Given the description of an element on the screen output the (x, y) to click on. 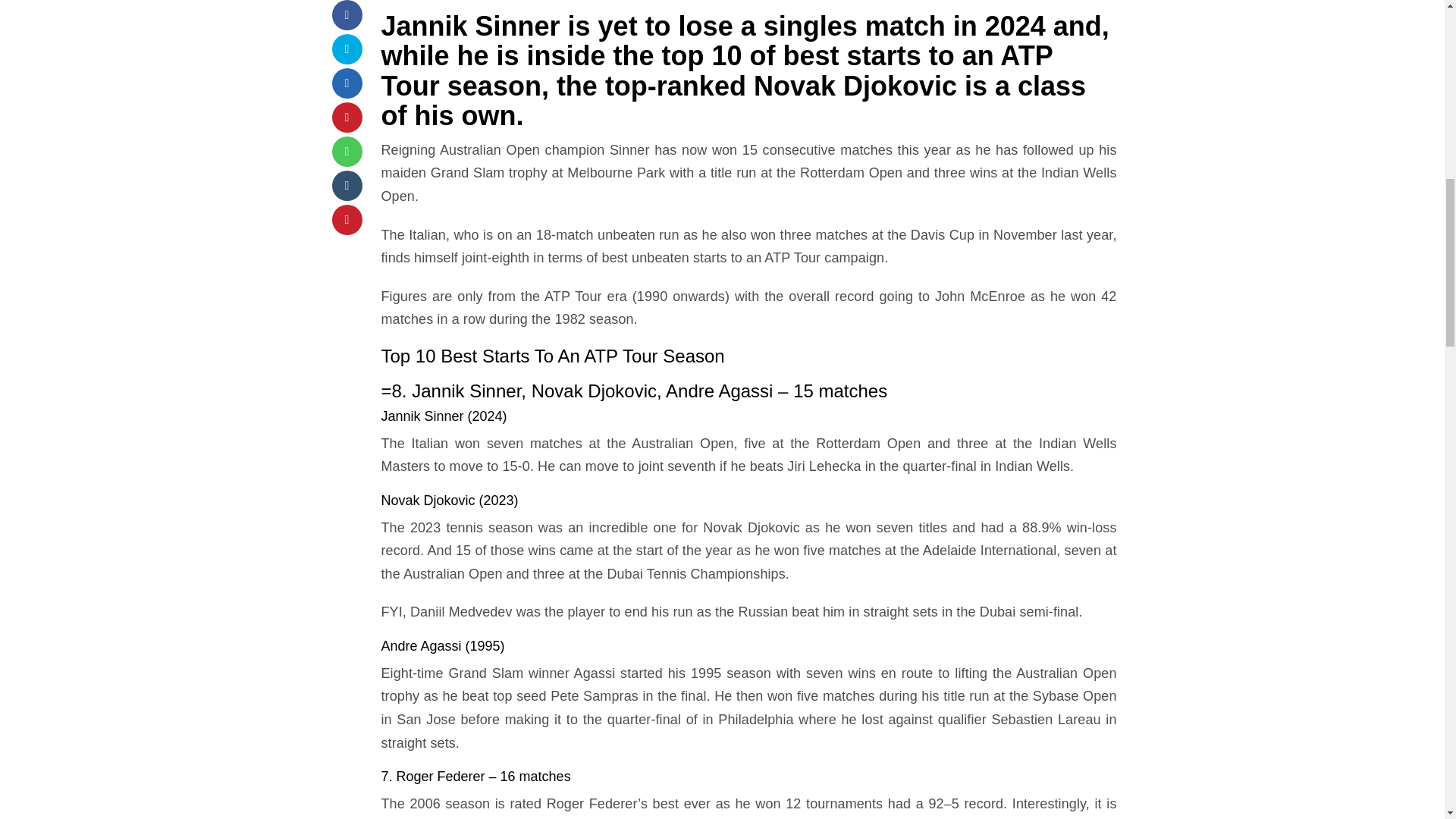
Click to Print (346, 219)
